Given the description of an element on the screen output the (x, y) to click on. 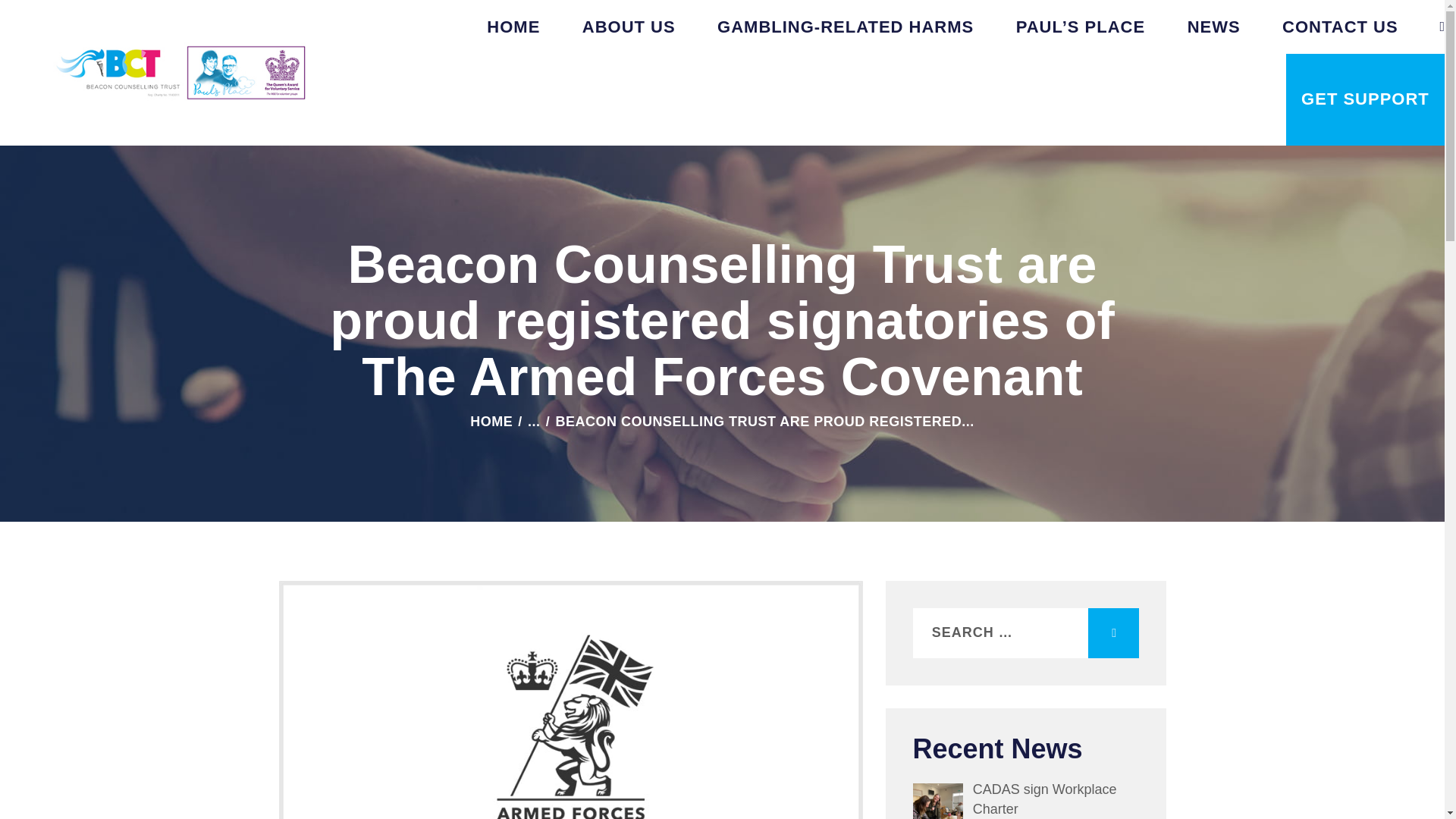
GAMBLING-RELATED HARMS (844, 27)
ABOUT US (627, 27)
CONTACT US (1339, 27)
HOME (512, 27)
Search (1112, 633)
HOME (491, 421)
Search (1112, 633)
NEWS (1213, 27)
